Given the description of an element on the screen output the (x, y) to click on. 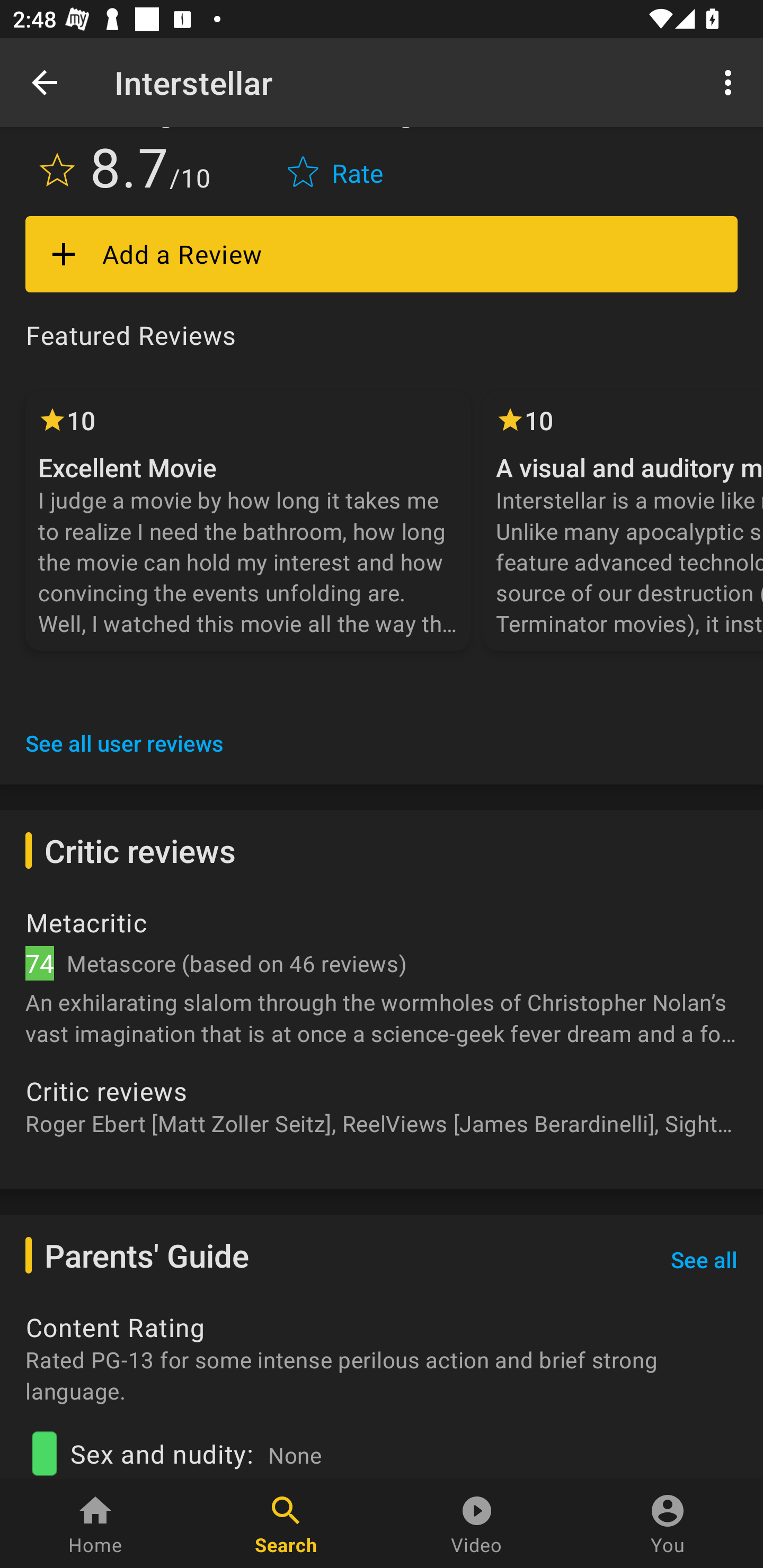
More options (731, 81)
Your Rating Rate (337, 165)
Add a Review (381, 253)
See all user reviews (124, 743)
See all See all  (703, 1259)
Sex and nudity:  None (381, 1448)
Home (95, 1523)
Video (476, 1523)
You (667, 1523)
